Given the description of an element on the screen output the (x, y) to click on. 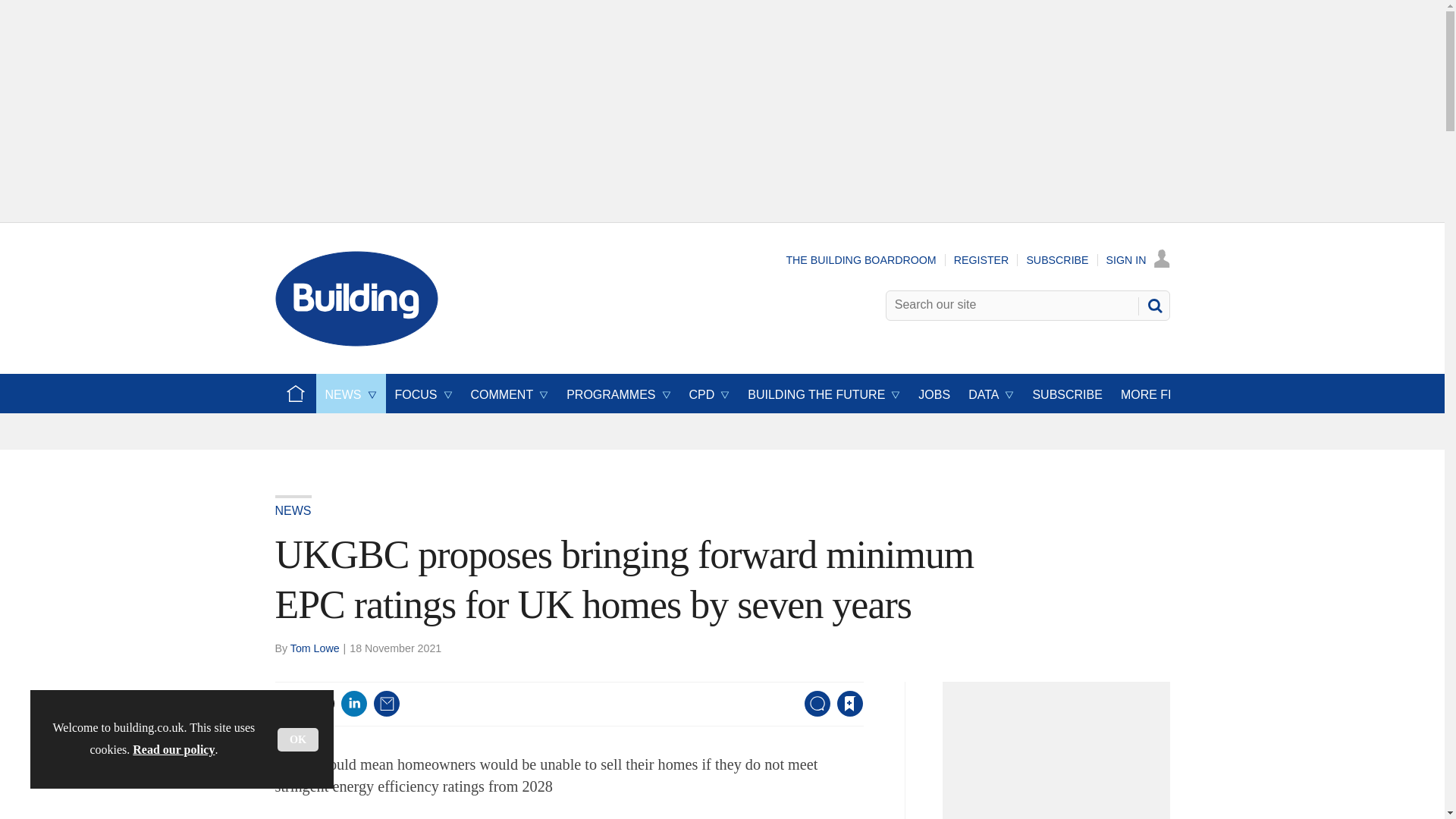
3rd party ad content (1059, 755)
THE BUILDING BOARDROOM (861, 259)
SEARCH (1153, 305)
REGISTER (981, 259)
No comments (812, 712)
SIGN IN (1138, 259)
Share this on Linked in (352, 703)
Email this article (386, 703)
SUBSCRIBE (1056, 259)
Share this on Twitter (320, 703)
Share this on Facebook (288, 703)
Insert Logo text (356, 341)
OK (298, 739)
Read our policy (173, 748)
